Given the description of an element on the screen output the (x, y) to click on. 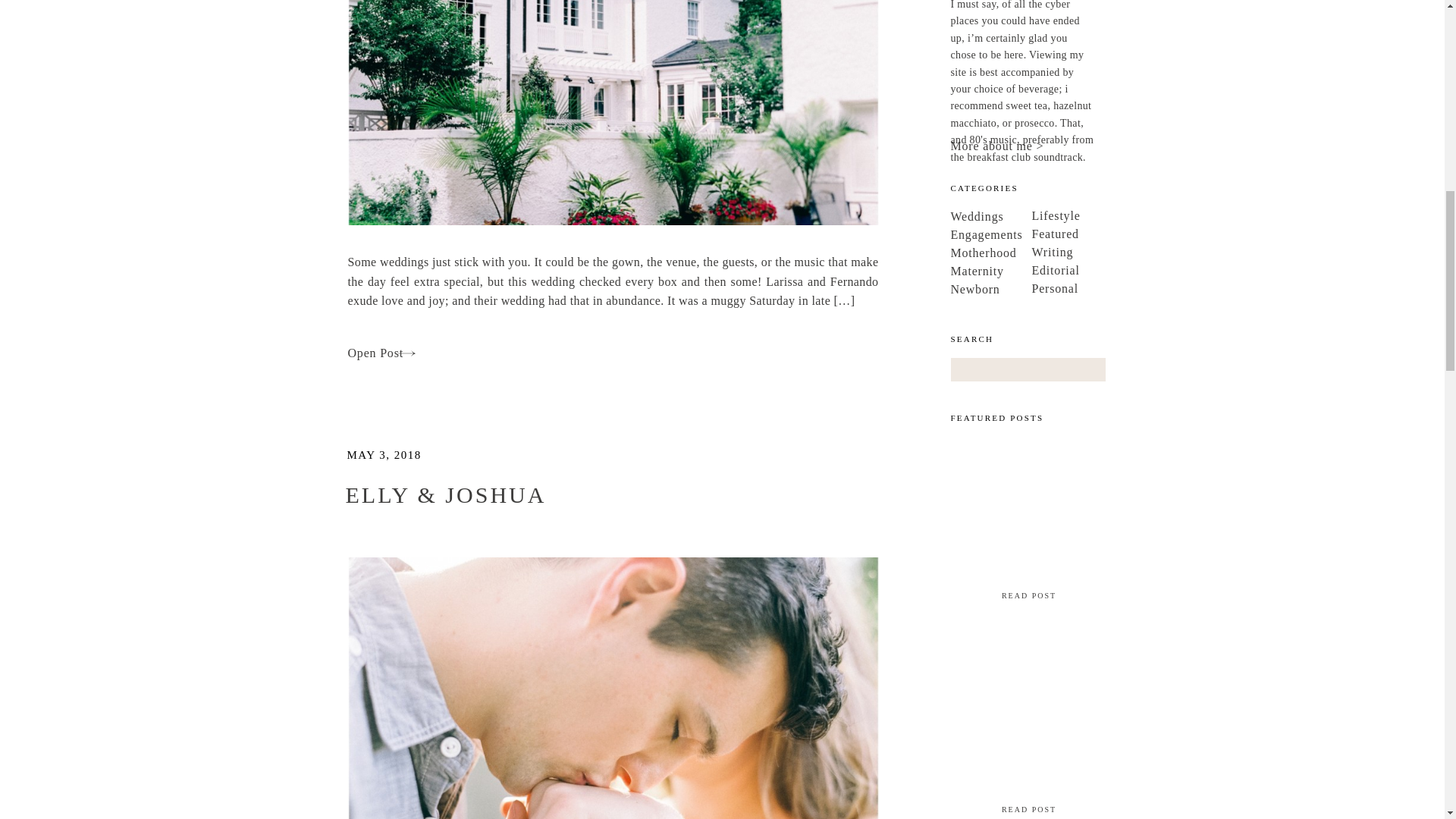
Writing (1102, 249)
Featured (1102, 231)
Newborn (1022, 286)
Personal (1102, 286)
Motherhood (1022, 250)
Lifestyle (1102, 213)
Weddings (1022, 213)
Maternity (1022, 268)
Engagements (1022, 232)
Editorial (1102, 268)
